Given the description of an element on the screen output the (x, y) to click on. 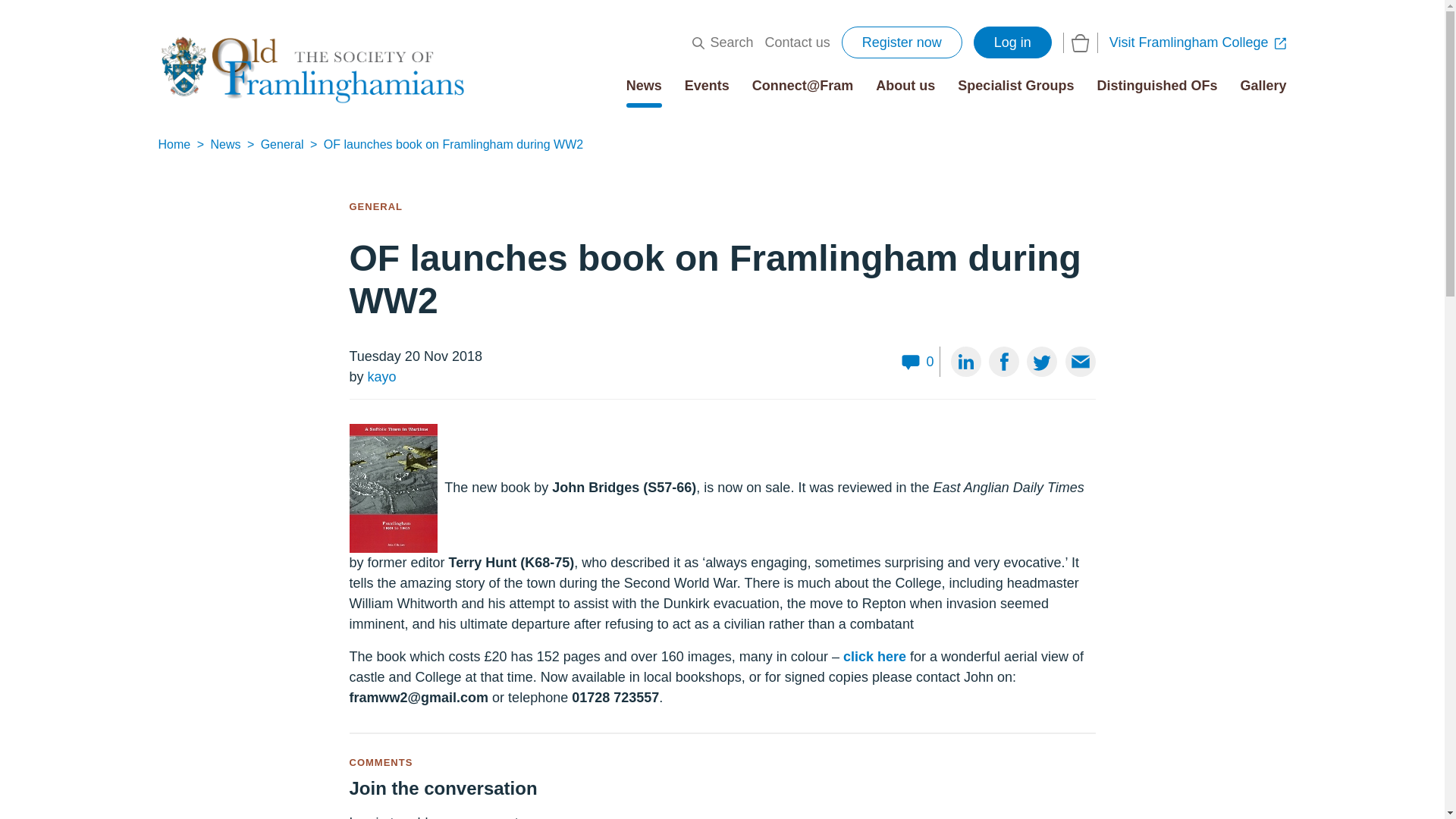
Contact us (797, 41)
Events (706, 85)
Search (723, 41)
Distinguished OFs (1156, 85)
Visit Framlingham College (1198, 41)
Specialist Groups (1016, 85)
Contact us (797, 41)
Log in (1012, 42)
News (644, 85)
Register now (901, 42)
